Given the description of an element on the screen output the (x, y) to click on. 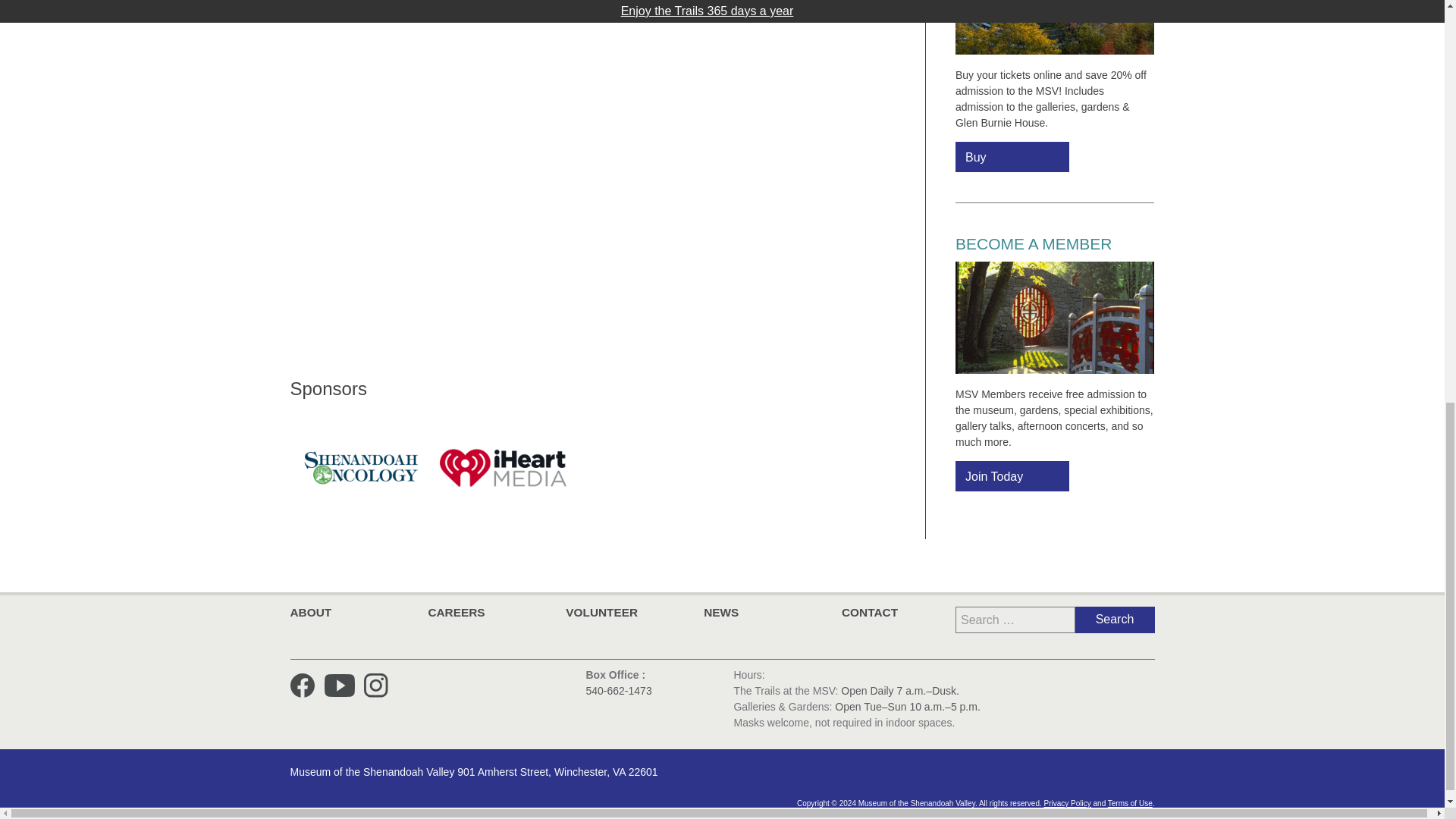
iHeart HORIZ logo 400 x 200 (503, 467)
Search (1114, 619)
Search (1114, 619)
Shenandoah Oncology (361, 467)
